Given the description of an element on the screen output the (x, y) to click on. 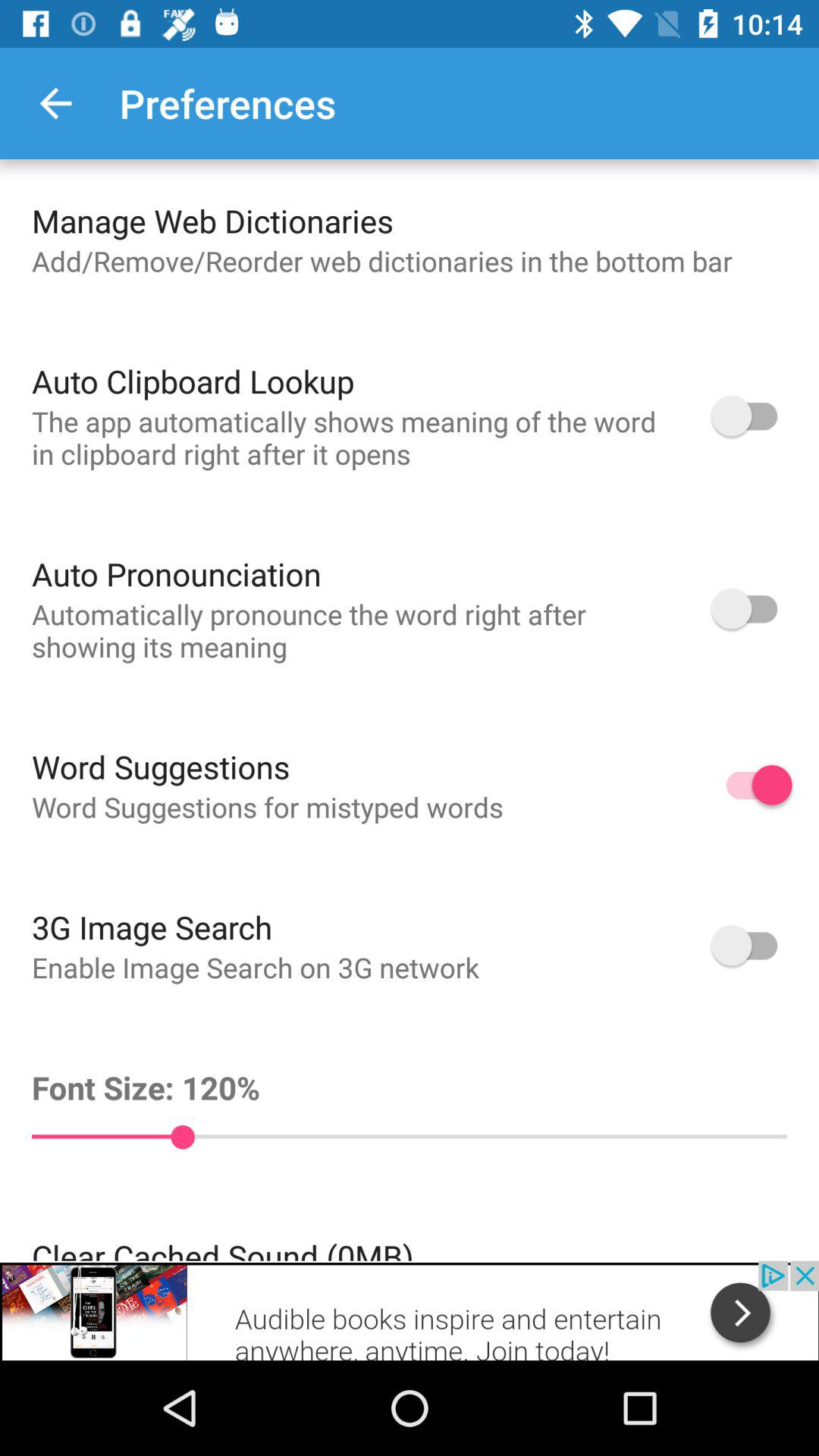
check option (751, 945)
